Given the description of an element on the screen output the (x, y) to click on. 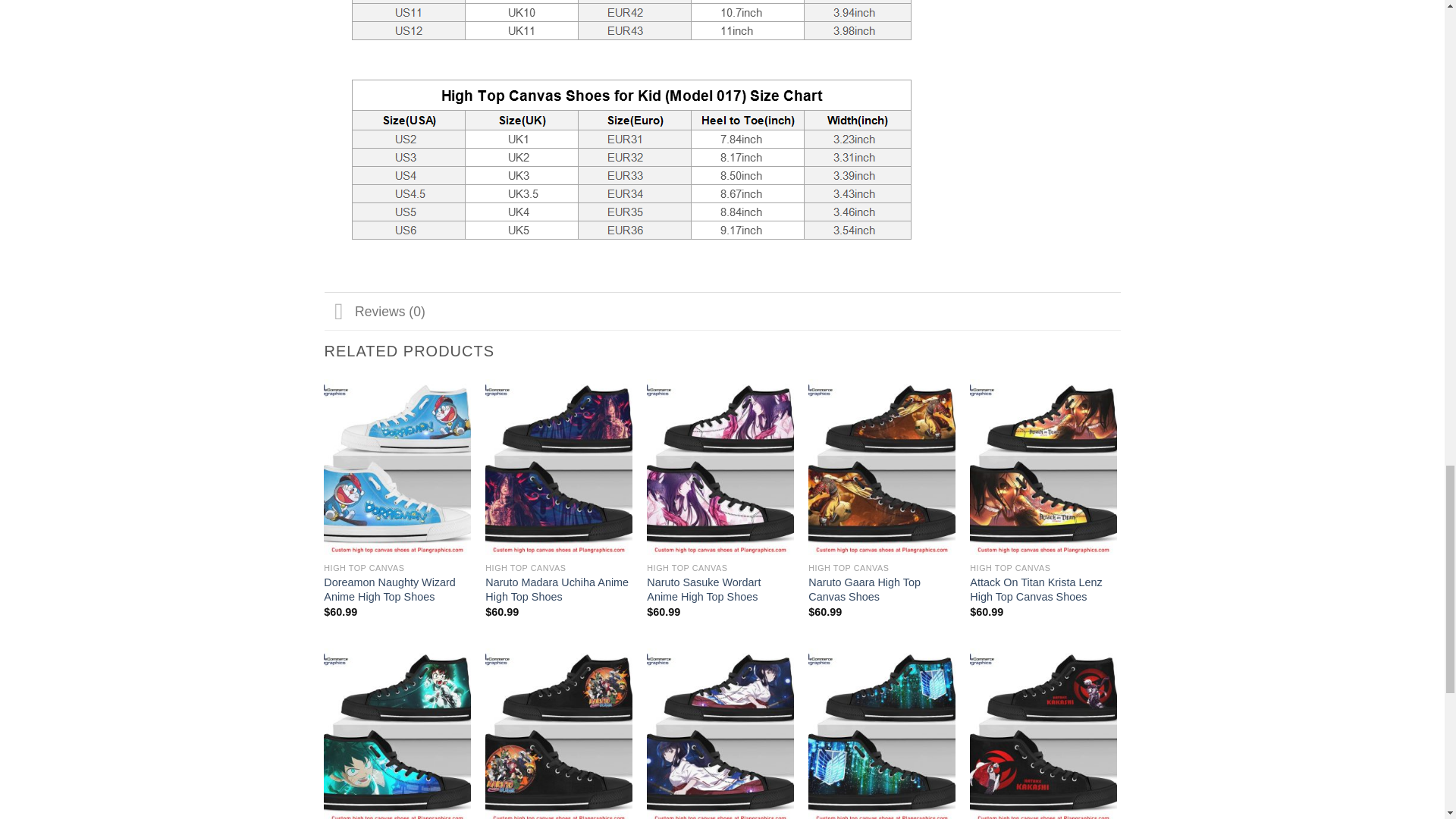
Doreamon Naughty Wizard Anime High Top Shoes (396, 589)
Naruto Madara Uchiha Anime High Top Shoes (557, 589)
